Given the description of an element on the screen output the (x, y) to click on. 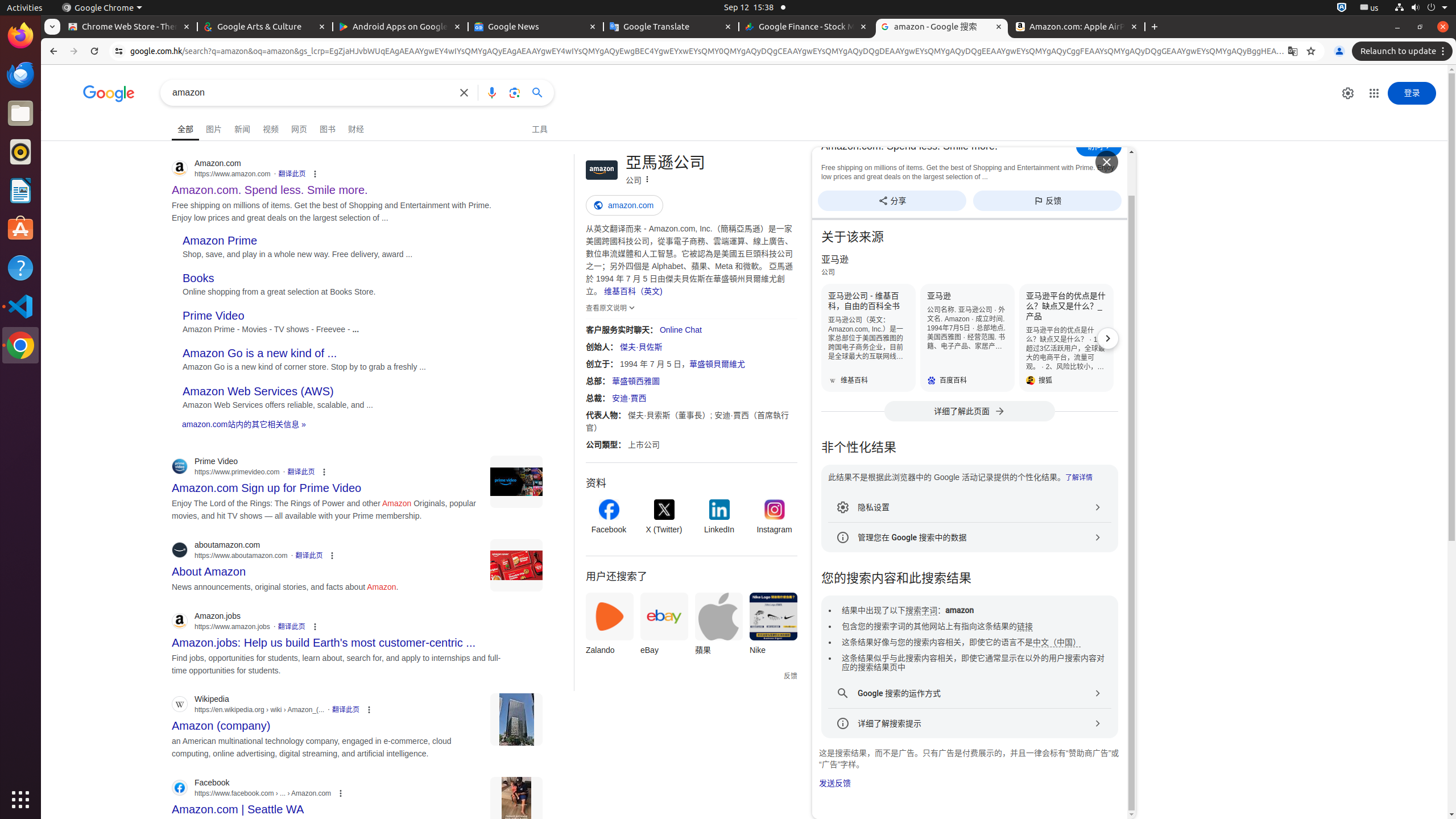
 Amazon (company) Wikipedia https://en.wikipedia.org › wiki › Amazon_(... Element type: link (220, 722)
Thunderbird Mail Element type: push-button (20, 74)
